Given the description of an element on the screen output the (x, y) to click on. 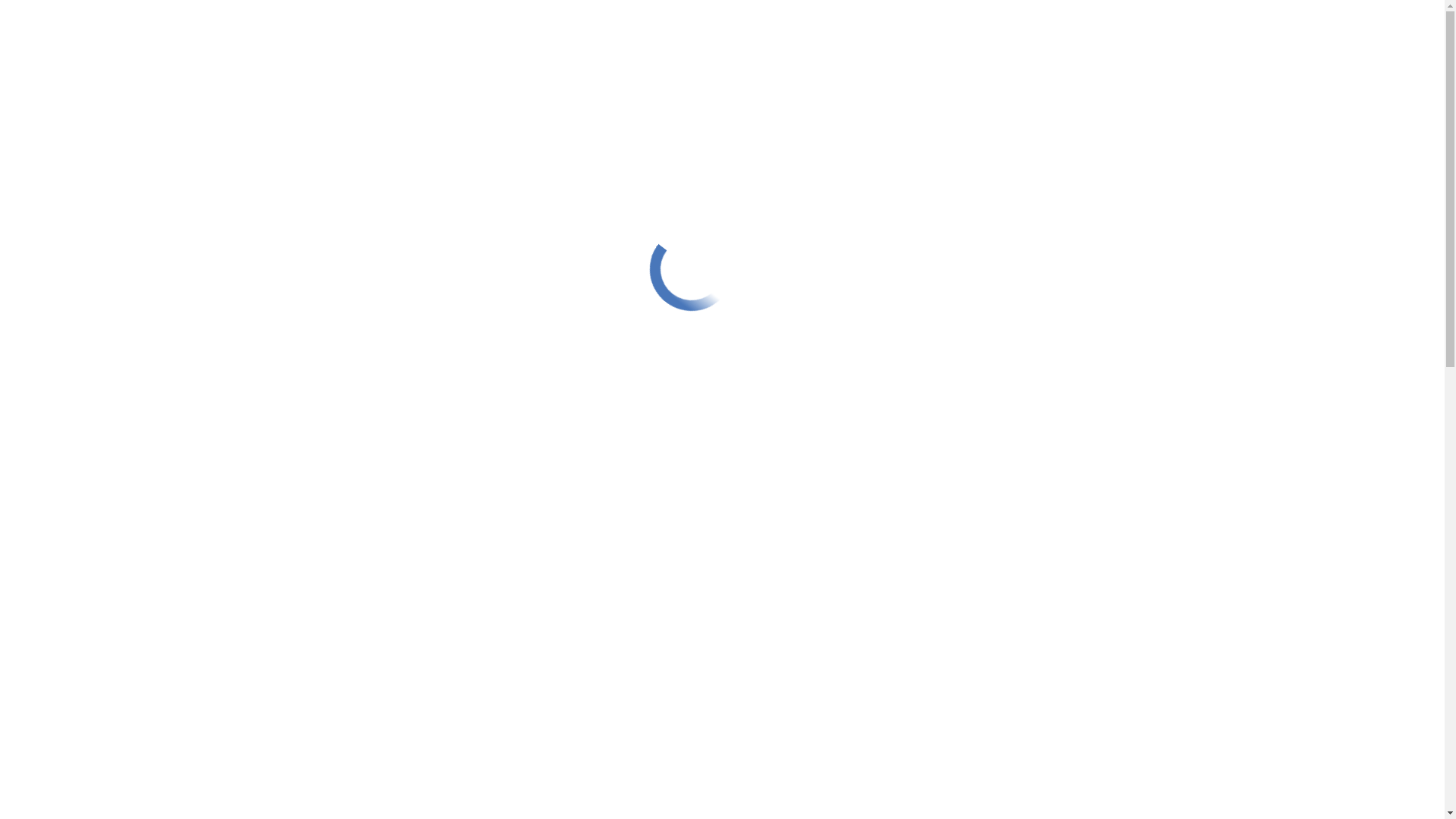
RESULTADOS Element type: text (544, 428)
